Given the description of an element on the screen output the (x, y) to click on. 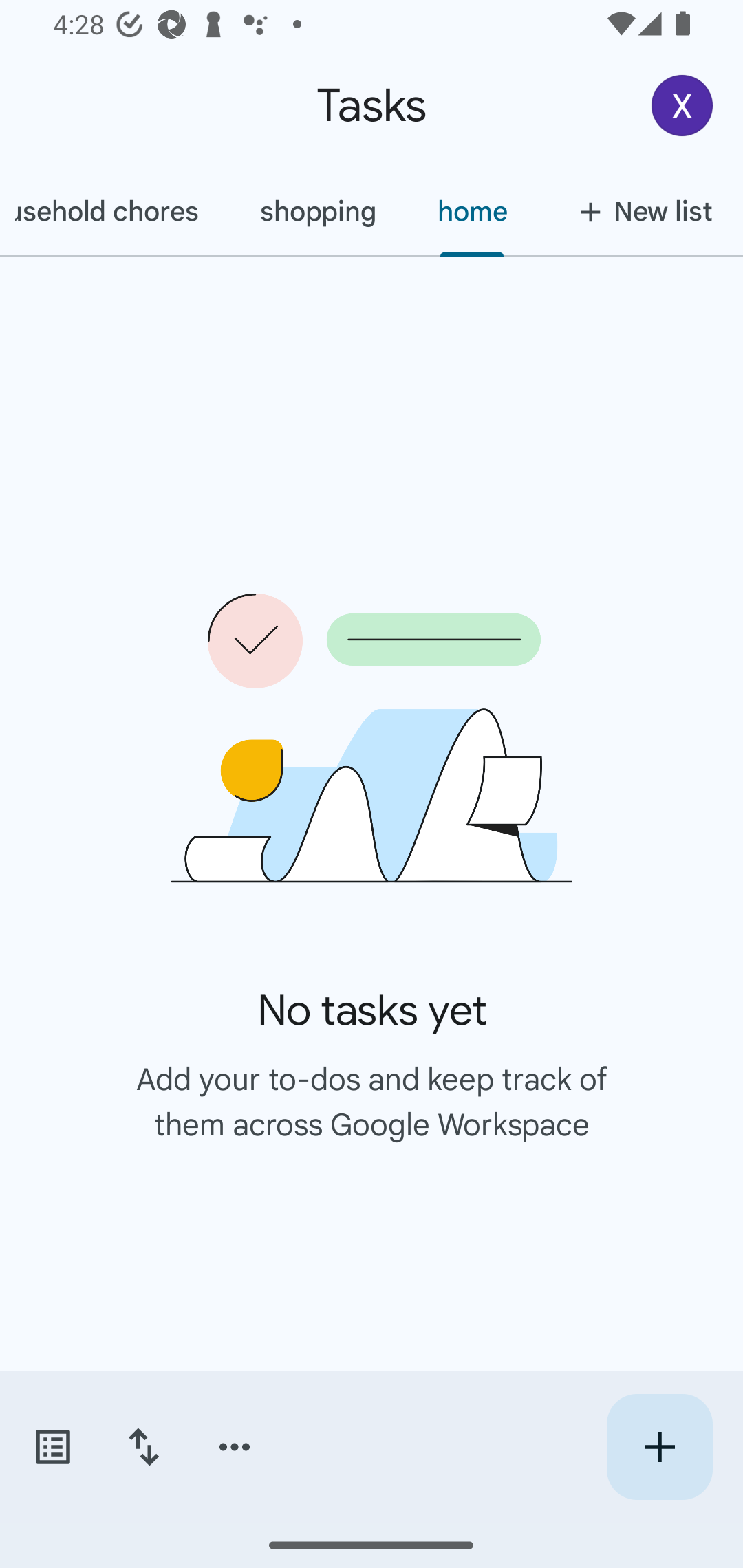
household chores (114, 211)
shopping (317, 211)
New list (640, 211)
Switch task lists (52, 1447)
Create new task (659, 1446)
Change sort order (143, 1446)
More options (234, 1446)
